Given the description of an element on the screen output the (x, y) to click on. 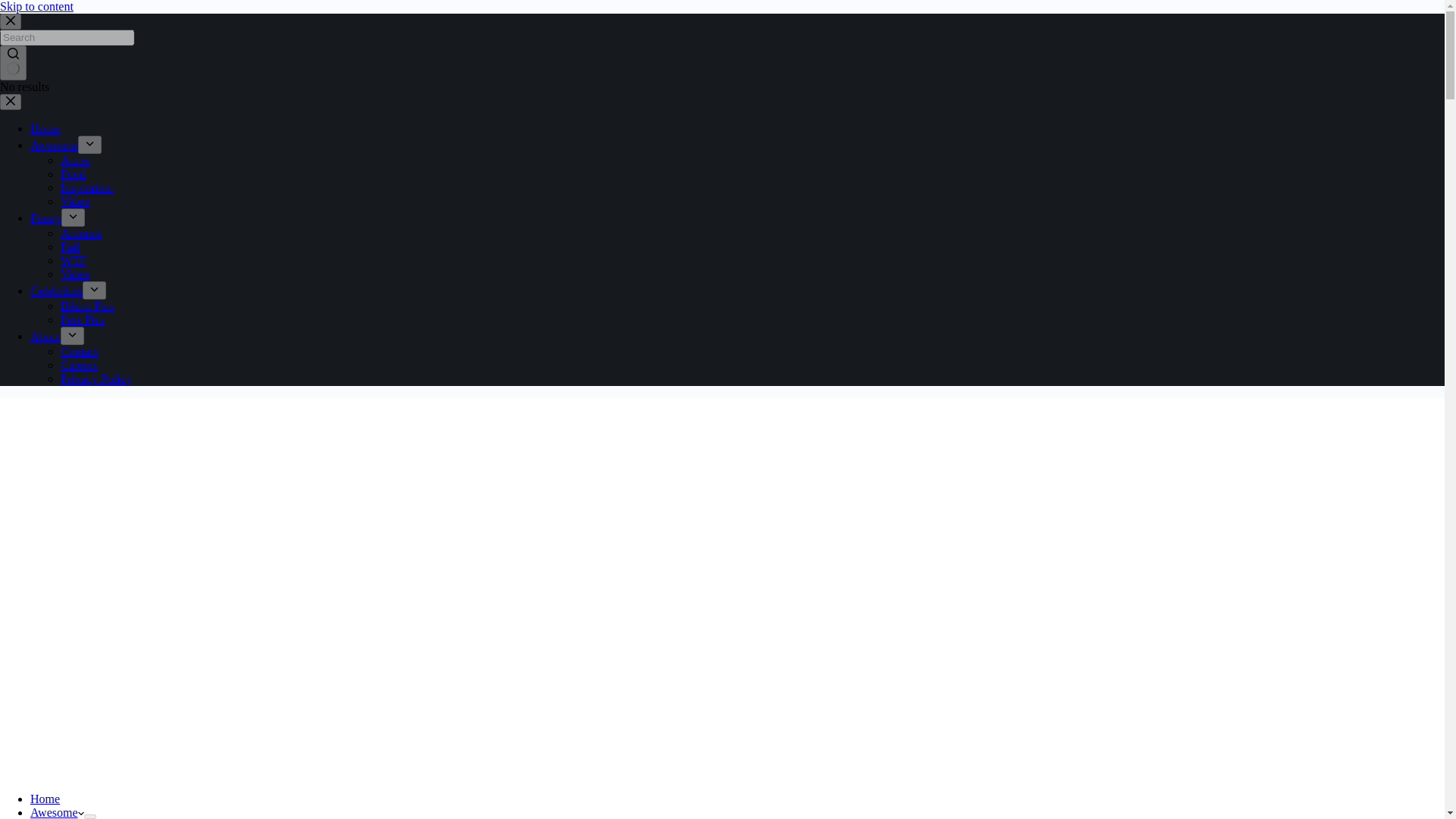
Contact (80, 350)
Autos (74, 160)
WTF (73, 259)
Bikini Pics (88, 305)
Privacy Policy (96, 378)
Celebrities (56, 290)
Awesome (57, 812)
Food (73, 173)
Awesome (54, 144)
Fail (70, 246)
